Given the description of an element on the screen output the (x, y) to click on. 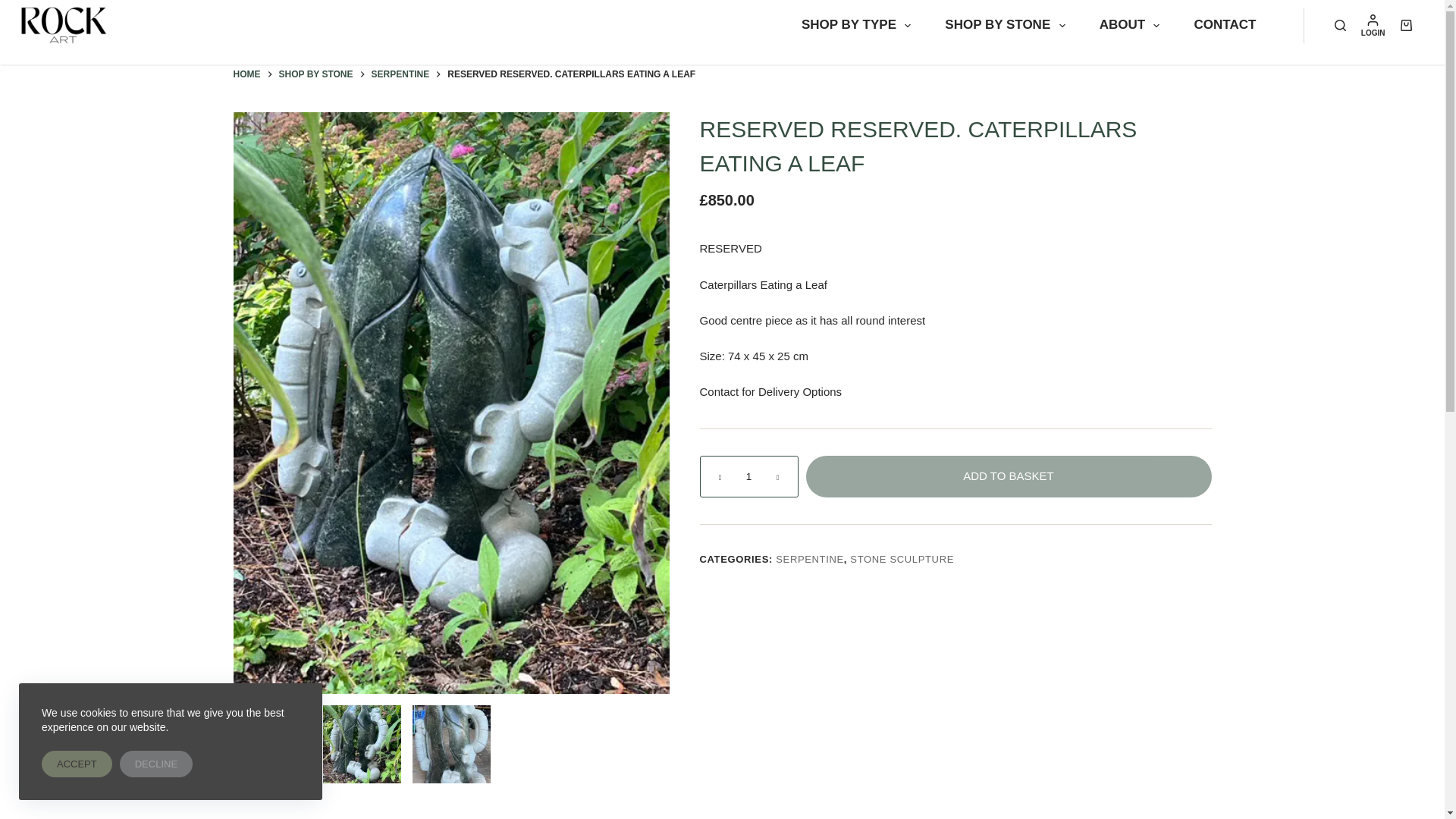
1 (747, 476)
Skip to content (15, 7)
